Given the description of an element on the screen output the (x, y) to click on. 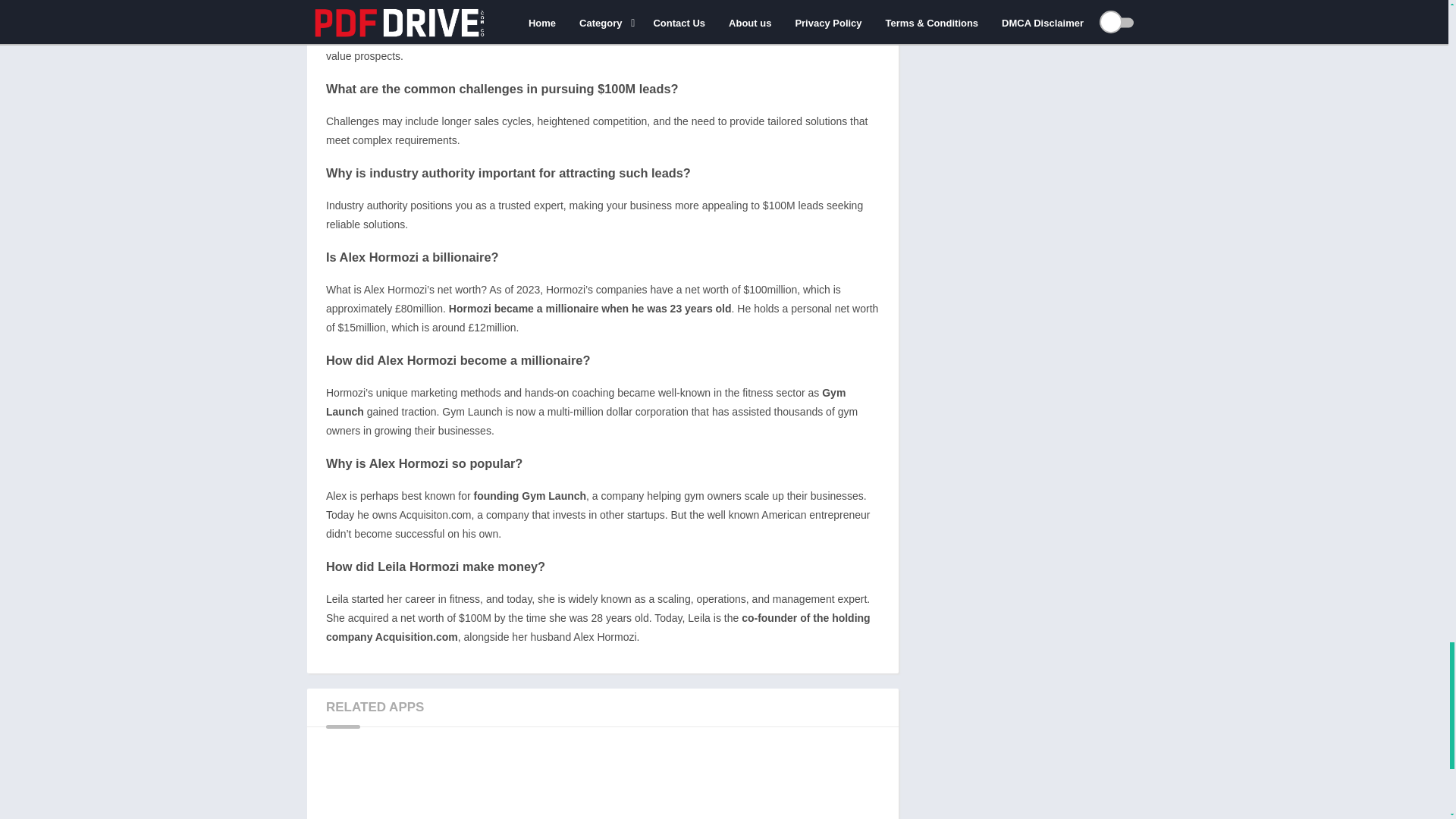
Buy Then Build PDF by Walker Deibel (488, 782)
The Power of The Yield PDF: A Comprehensive Guide (602, 782)
